Given the description of an element on the screen output the (x, y) to click on. 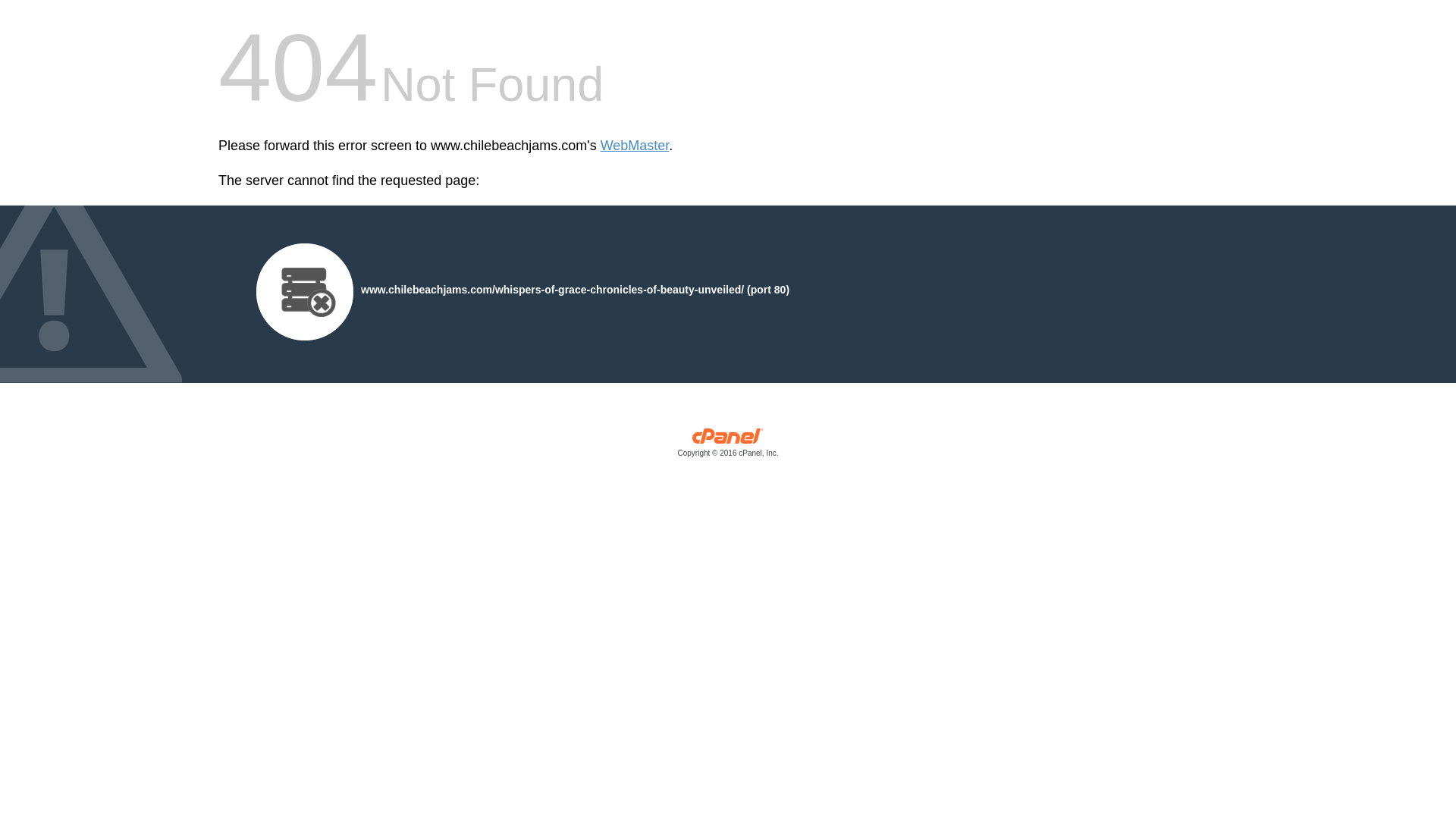
WebMaster (634, 145)
cPanel, Inc. (727, 446)
